Given the description of an element on the screen output the (x, y) to click on. 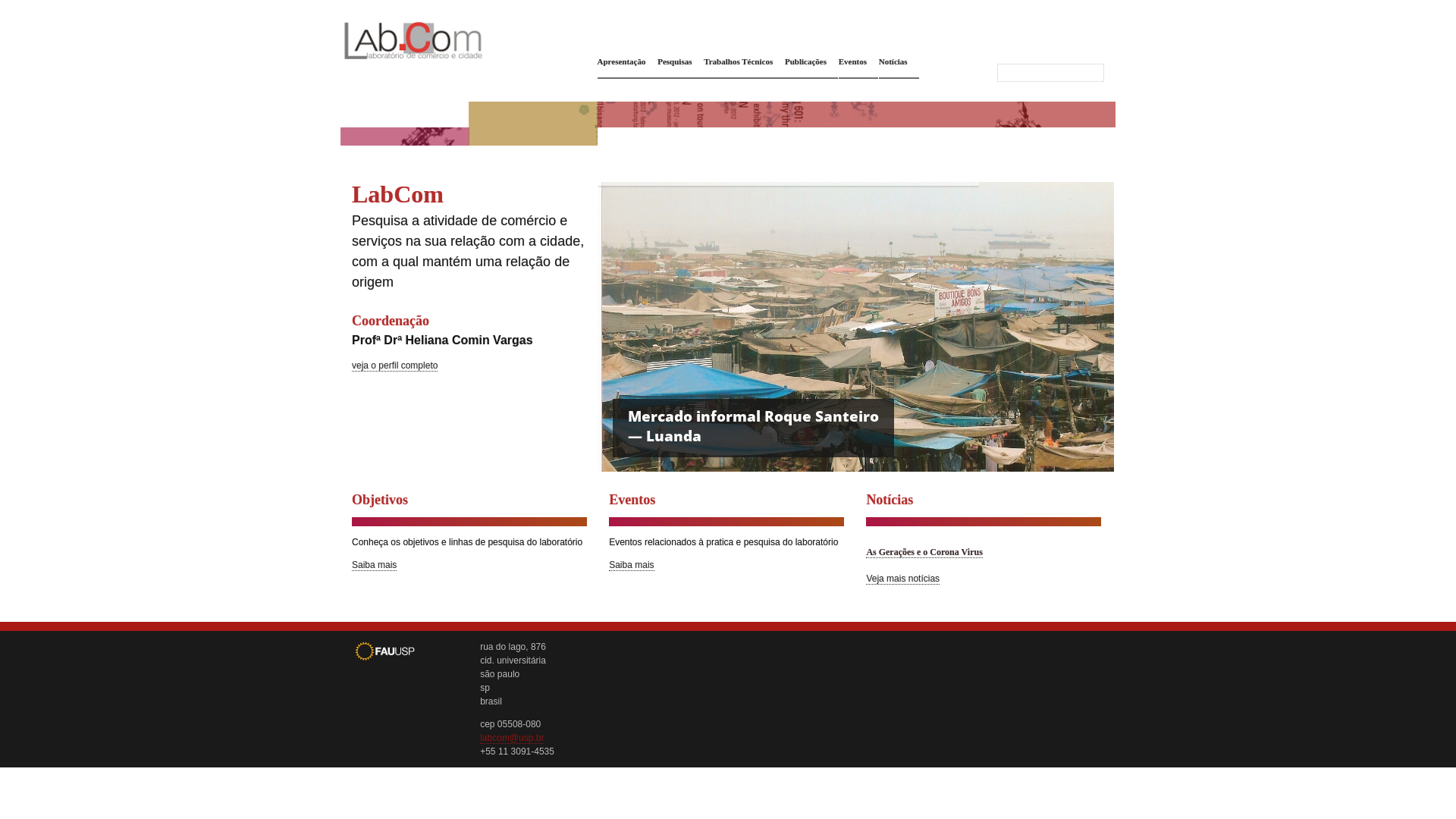
labcom@usp.br Element type: text (511, 737)
Objetivos Element type: text (379, 499)
veja o perfil completo Element type: text (394, 365)
Eventos Element type: text (631, 499)
Pesquisas Element type: text (677, 60)
Eventos Element type: text (855, 60)
Saiba mais Element type: text (373, 565)
Saiba mais Element type: text (630, 565)
